Given the description of an element on the screen output the (x, y) to click on. 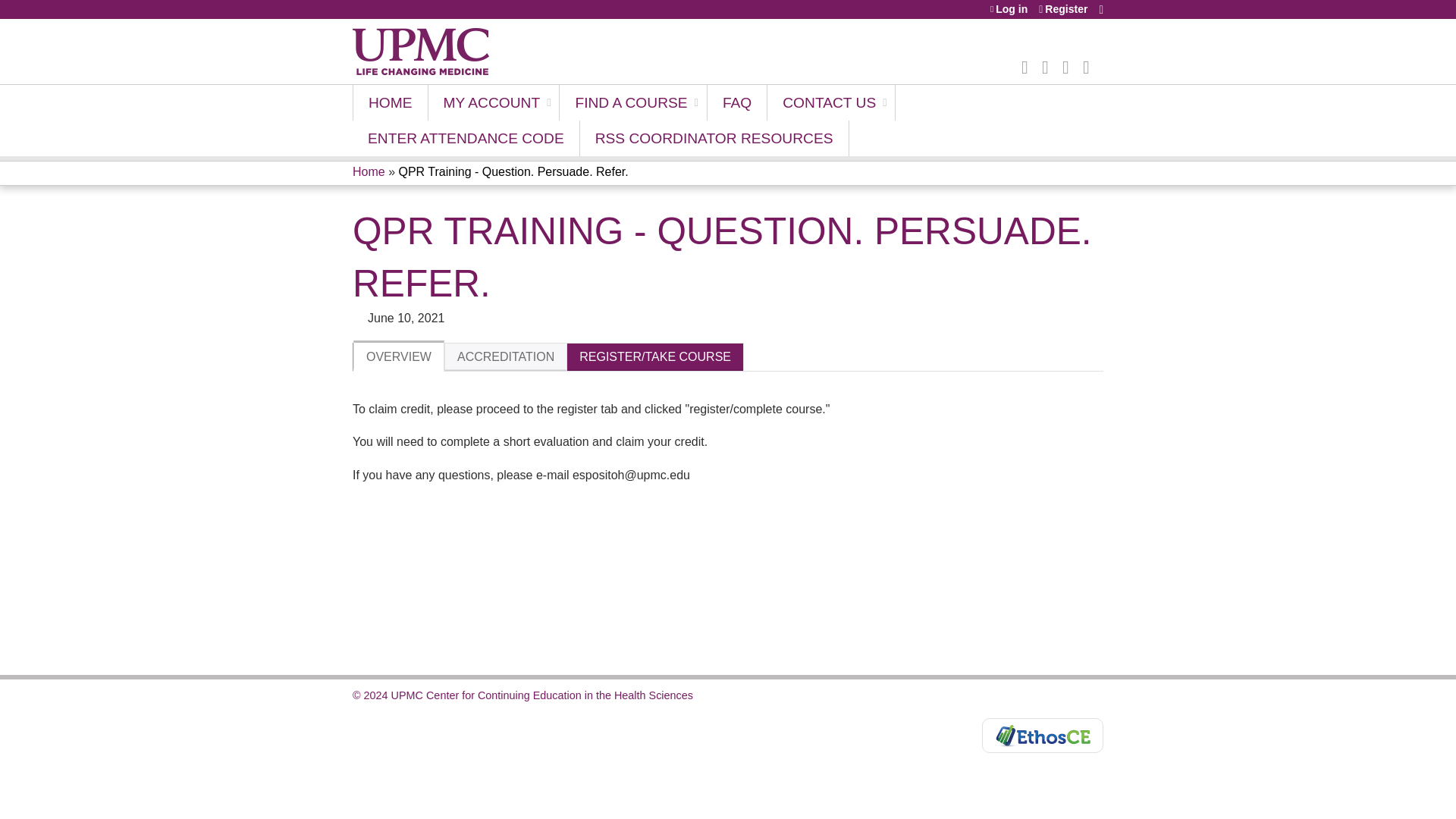
Register (1063, 9)
HOME (390, 102)
MY ACCOUNT (494, 102)
Home (420, 51)
Log in (1008, 9)
